Given the description of an element on the screen output the (x, y) to click on. 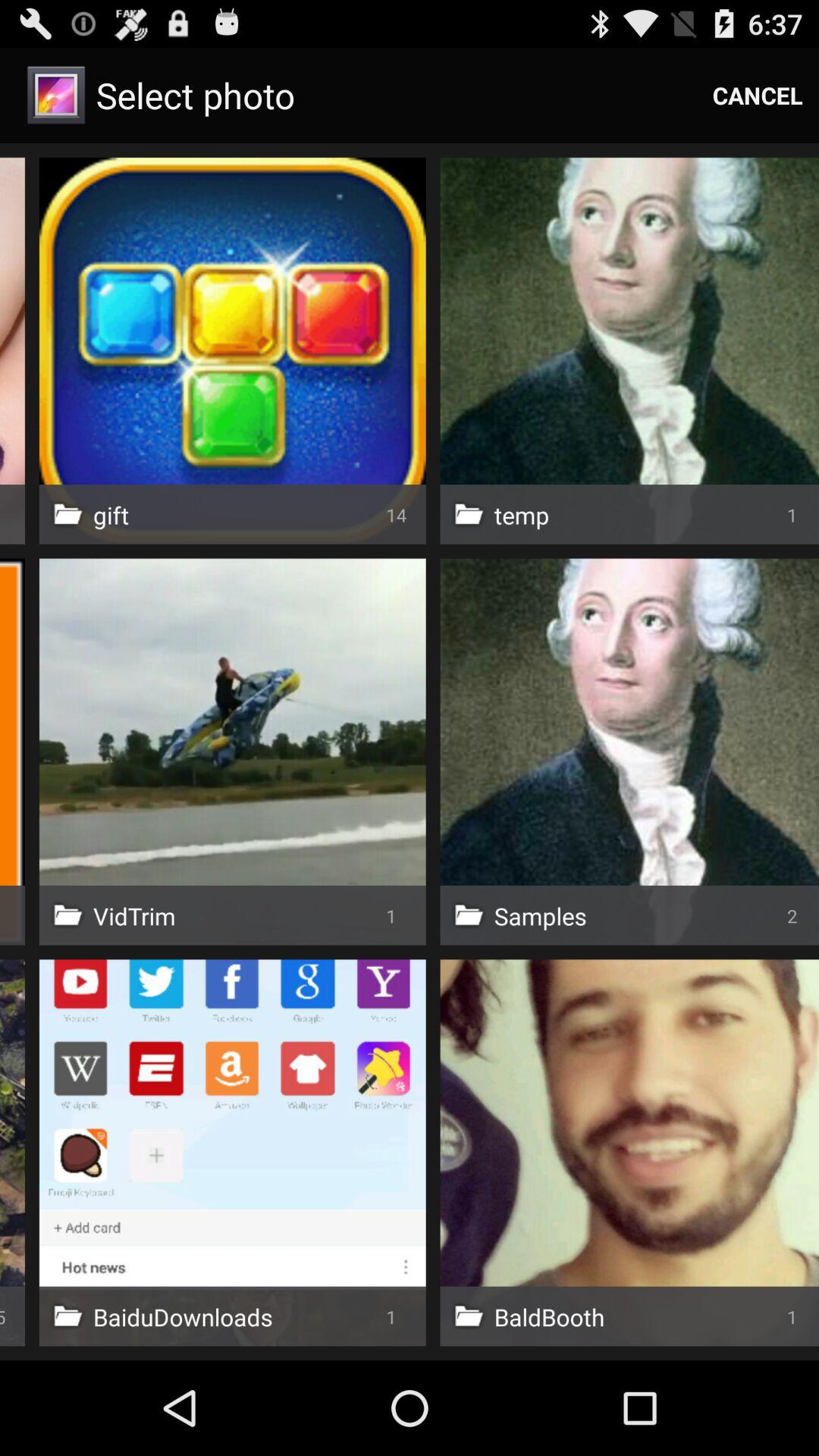
launch the app next to select photo icon (757, 95)
